Given the description of an element on the screen output the (x, y) to click on. 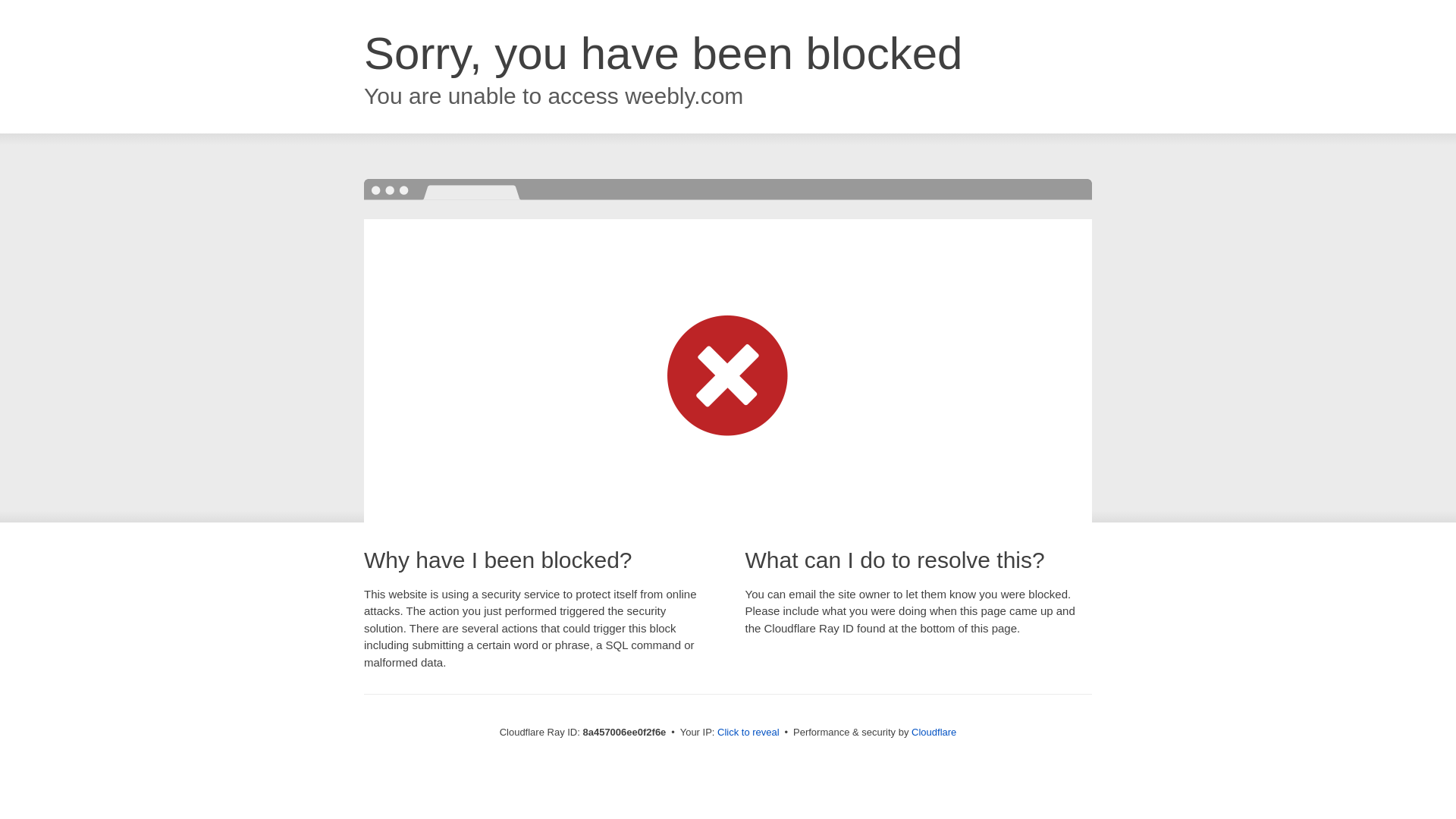
Click to reveal (747, 732)
Cloudflare (933, 731)
